Given the description of an element on the screen output the (x, y) to click on. 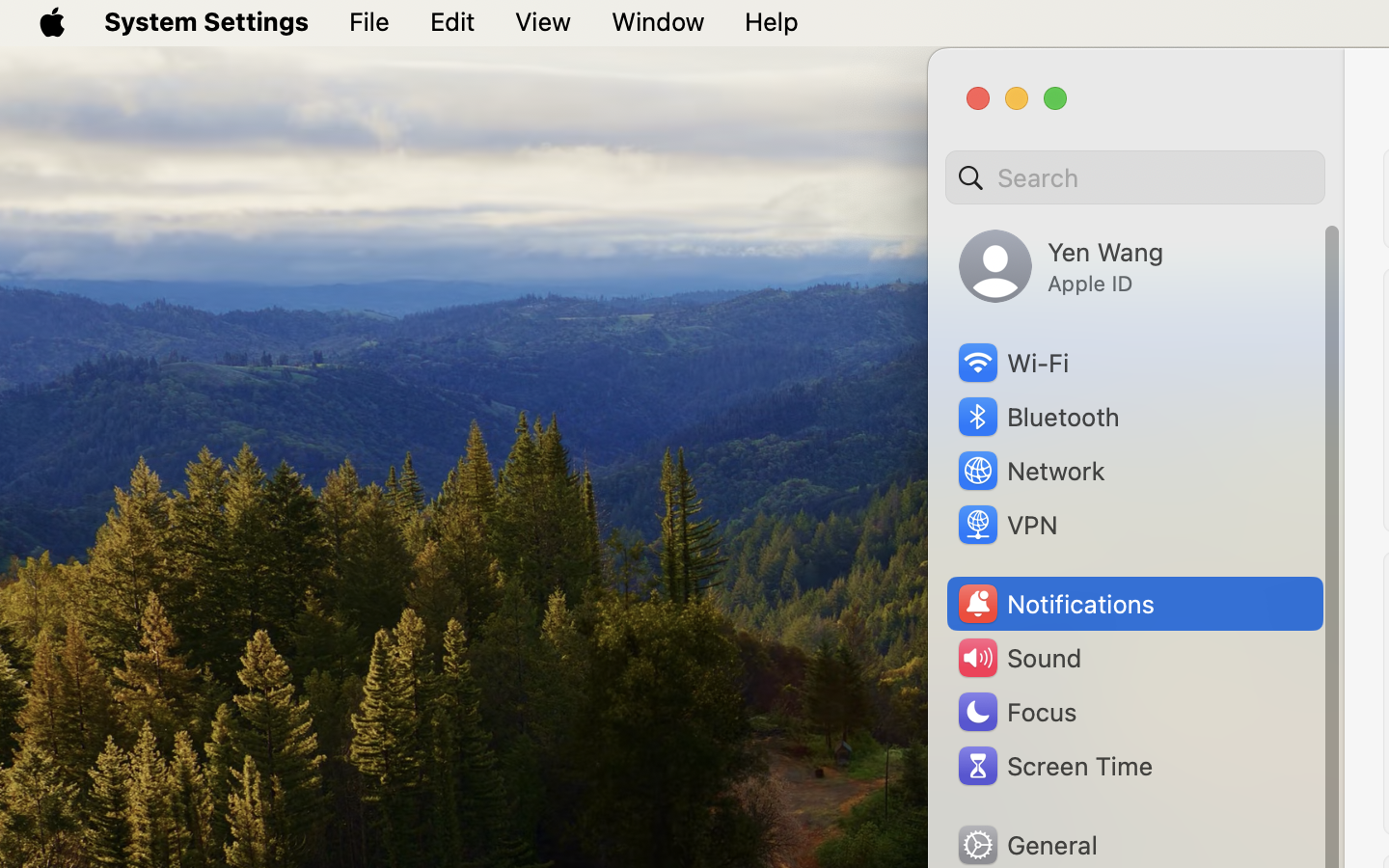
Screen Time Element type: AXStaticText (1053, 765)
Wi‑Fi Element type: AXStaticText (1011, 362)
Bluetooth Element type: AXStaticText (1037, 416)
Notifications Element type: AXStaticText (1054, 603)
Network Element type: AXStaticText (1029, 470)
